Given the description of an element on the screen output the (x, y) to click on. 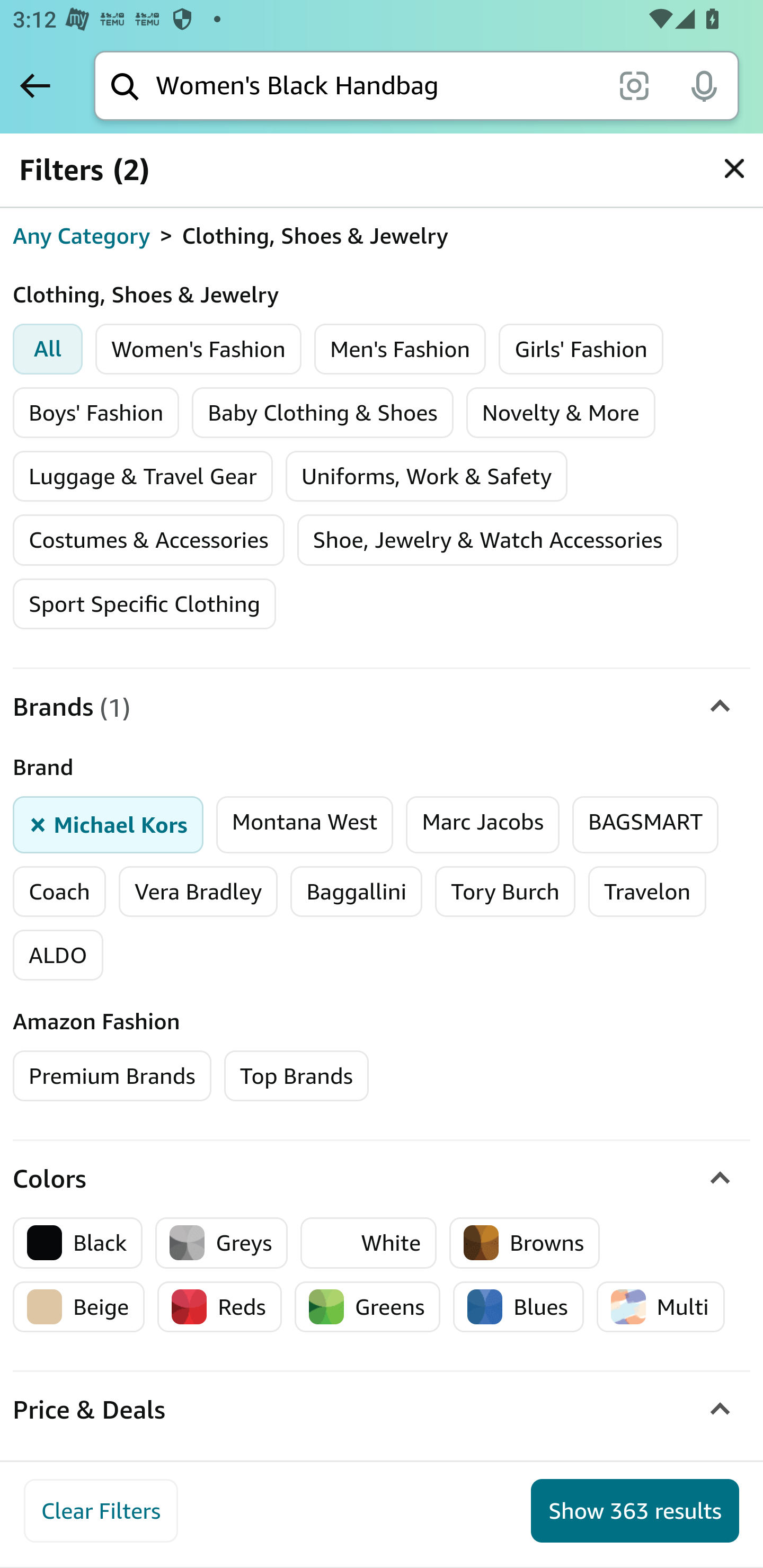
Back (35, 85)
scan it (633, 85)
Categories (1) (381, 181)
Any Category (81, 235)
Women's Fashion (198, 348)
Men's Fashion (399, 348)
Girls' Fashion (580, 348)
Boys' Fashion (95, 412)
Baby Clothing & Shoes (322, 412)
Novelty & More (560, 412)
Luggage & Travel Gear (142, 475)
Uniforms, Work & Safety (426, 475)
Costumes & Accessories (148, 539)
Shoe, Jewelry & Watch Accessories (487, 539)
Sport Specific Clothing (144, 602)
Brands (1) (381, 705)
× Michael Kors × Michael Kors (107, 823)
Montana West (304, 823)
Marc Jacobs (482, 823)
BAGSMART (646, 823)
Coach (59, 890)
Vera Bradley (197, 890)
Baggallini (355, 890)
Tory Burch (505, 890)
Travelon (647, 890)
ALDO (57, 955)
Premium Brands (111, 1076)
Top Brands (295, 1076)
Black Black Black Black (77, 1243)
Greys Greys Greys Greys (221, 1243)
White White White White (368, 1243)
Browns Browns Browns Browns (524, 1243)
Beige Beige Beige Beige (79, 1306)
Reds Reds Reds Reds (220, 1306)
Greens Greens Greens Greens (367, 1306)
Blues Blues Blues Blues (519, 1306)
Multi Multi Multi Multi (659, 1306)
Price & Deals (381, 1410)
Clear Filters (100, 1510)
Show 363 results (635, 1510)
